Given the description of an element on the screen output the (x, y) to click on. 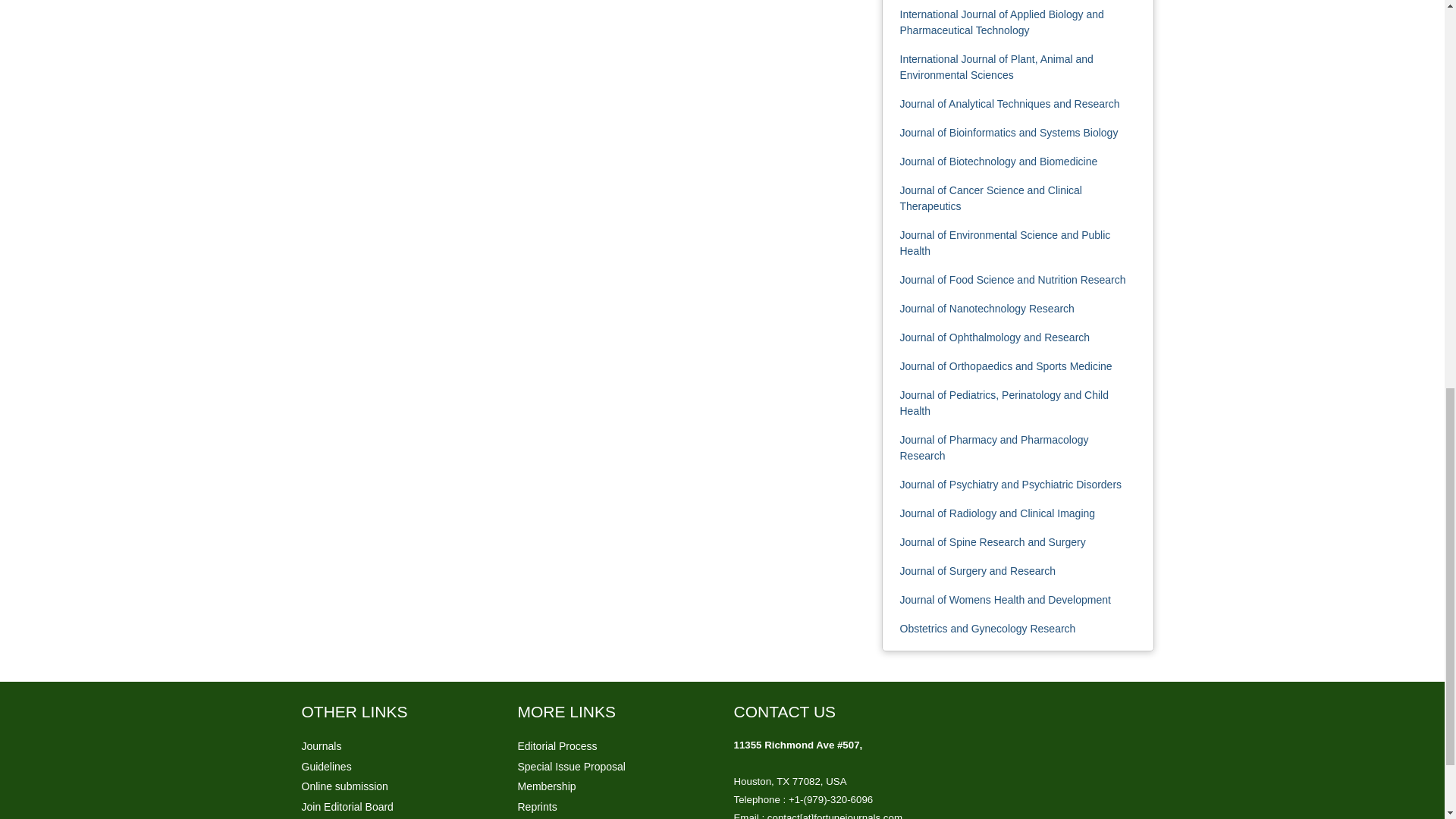
Journal of Bioinformatics and Systems Biology (1008, 132)
Journal of Analytical Techniques and Research (1009, 103)
Journal of Orthopaedics and Sports Medicine (1005, 366)
Journal of Nanotechnology Research (986, 308)
Journal of Environmental Science and Public Health (1004, 243)
Journal of Cancer Science and Clinical Therapeutics (990, 198)
Journal of Food Science and Nutrition Research (1012, 279)
Journal of Pediatrics, Perinatology and Child Health (1003, 402)
Journal of Ophthalmology and Research (994, 337)
Journal of Biotechnology and Biomedicine (998, 161)
